Given the description of an element on the screen output the (x, y) to click on. 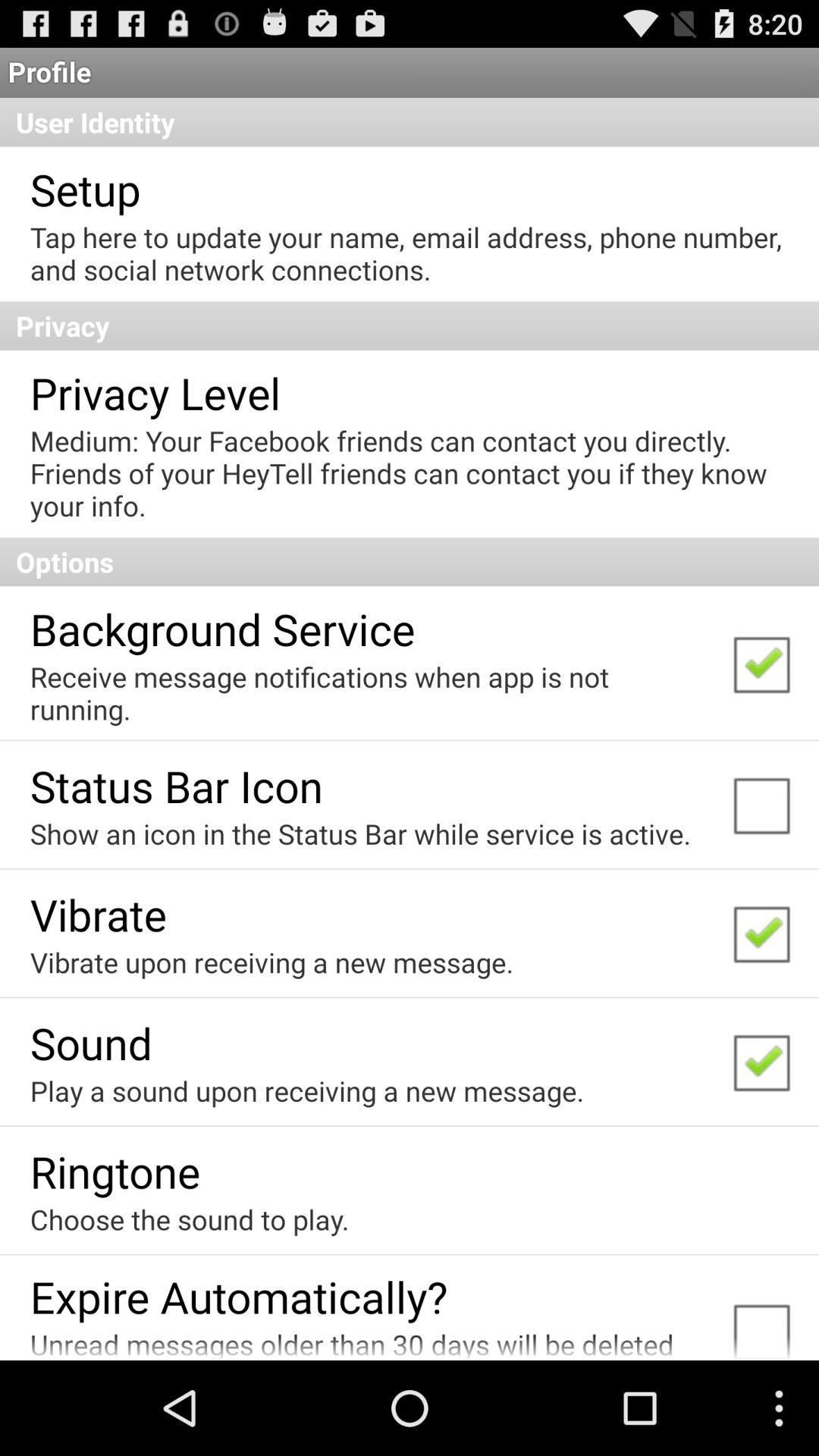
turn on app above the unread messages older item (238, 1296)
